Given the description of an element on the screen output the (x, y) to click on. 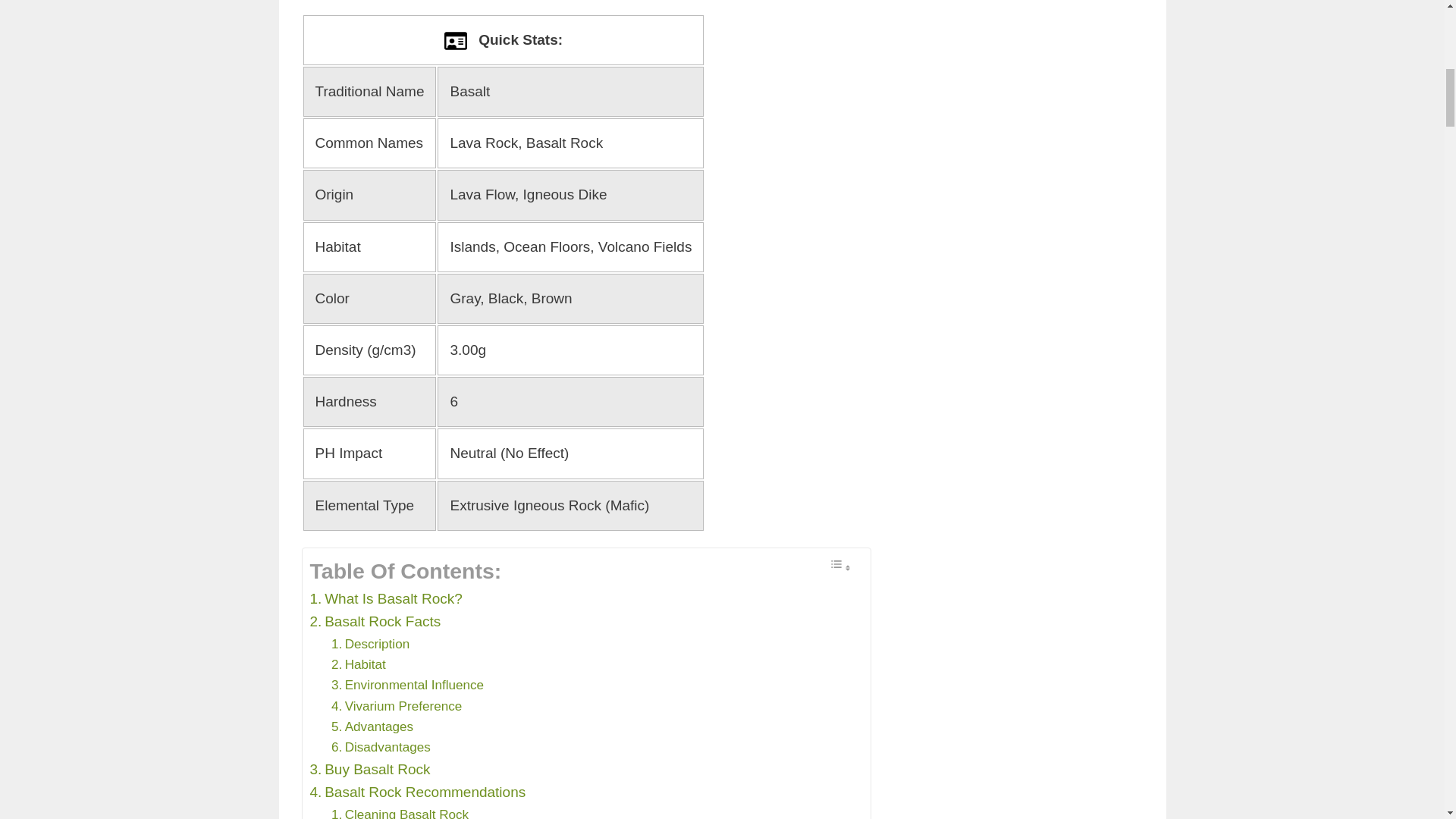
Habitat (358, 664)
Cleaning Basalt Rock (399, 811)
Buy Basalt Rock (368, 769)
Advantages (372, 726)
Disadvantages (380, 747)
Basalt Rock Facts (374, 621)
Disadvantages (380, 747)
Environmental Influence (407, 684)
Basalt Rock Recommendations (416, 792)
Buy Basalt Rock (368, 769)
